Given the description of an element on the screen output the (x, y) to click on. 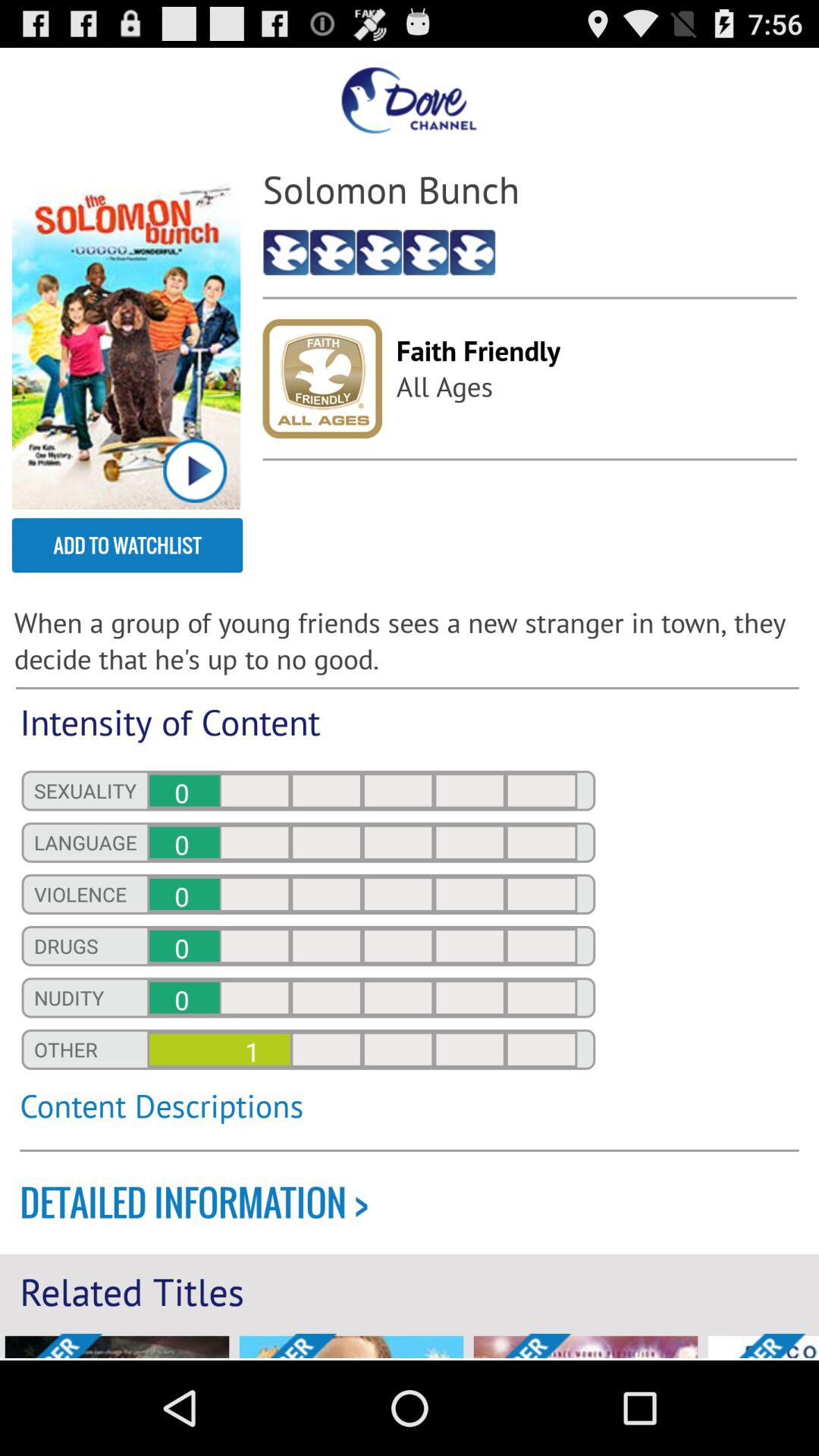
launch the icon above related titles (419, 1202)
